Given the description of an element on the screen output the (x, y) to click on. 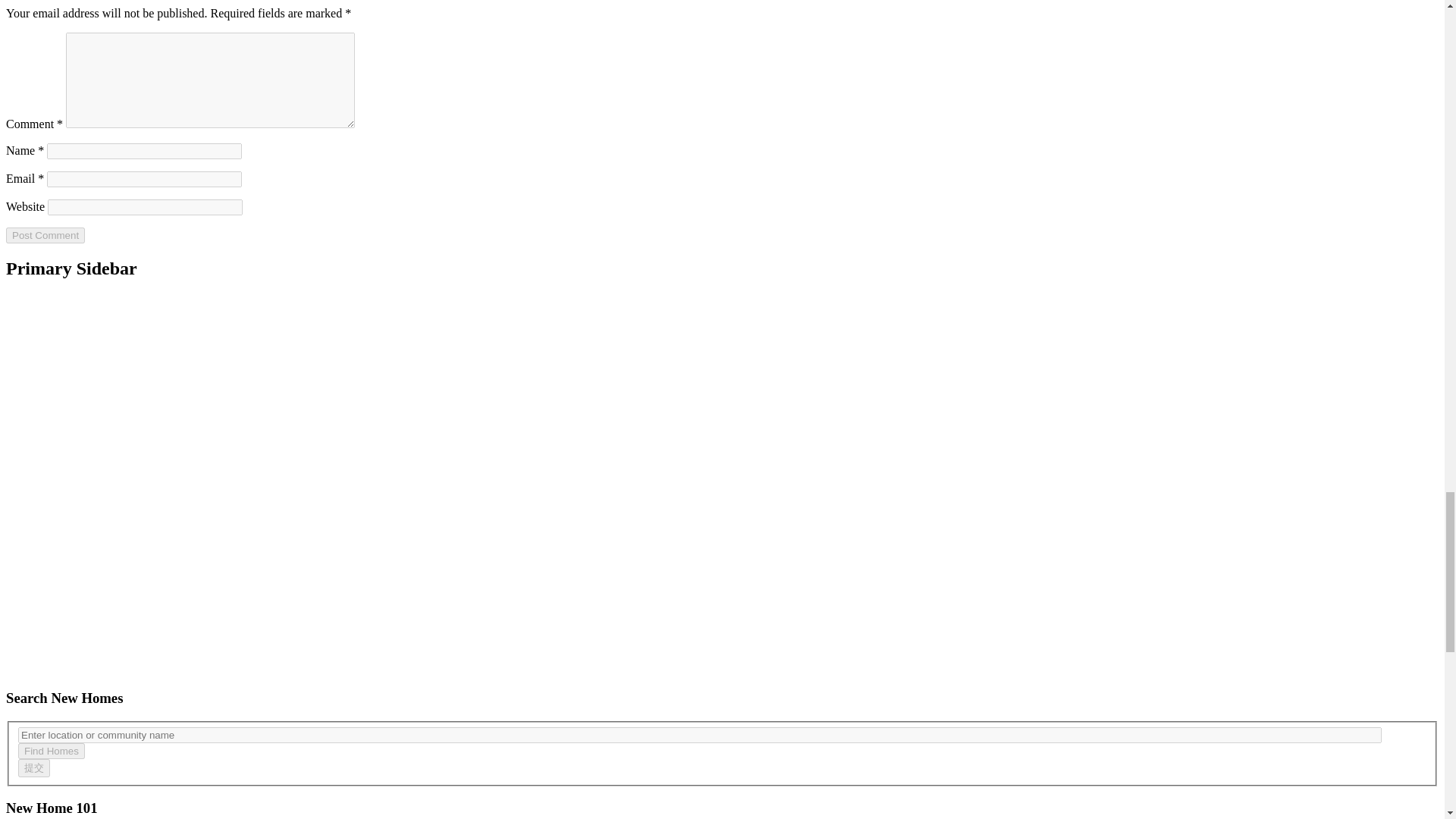
Find Homes (50, 750)
Post Comment (44, 235)
